Given the description of an element on the screen output the (x, y) to click on. 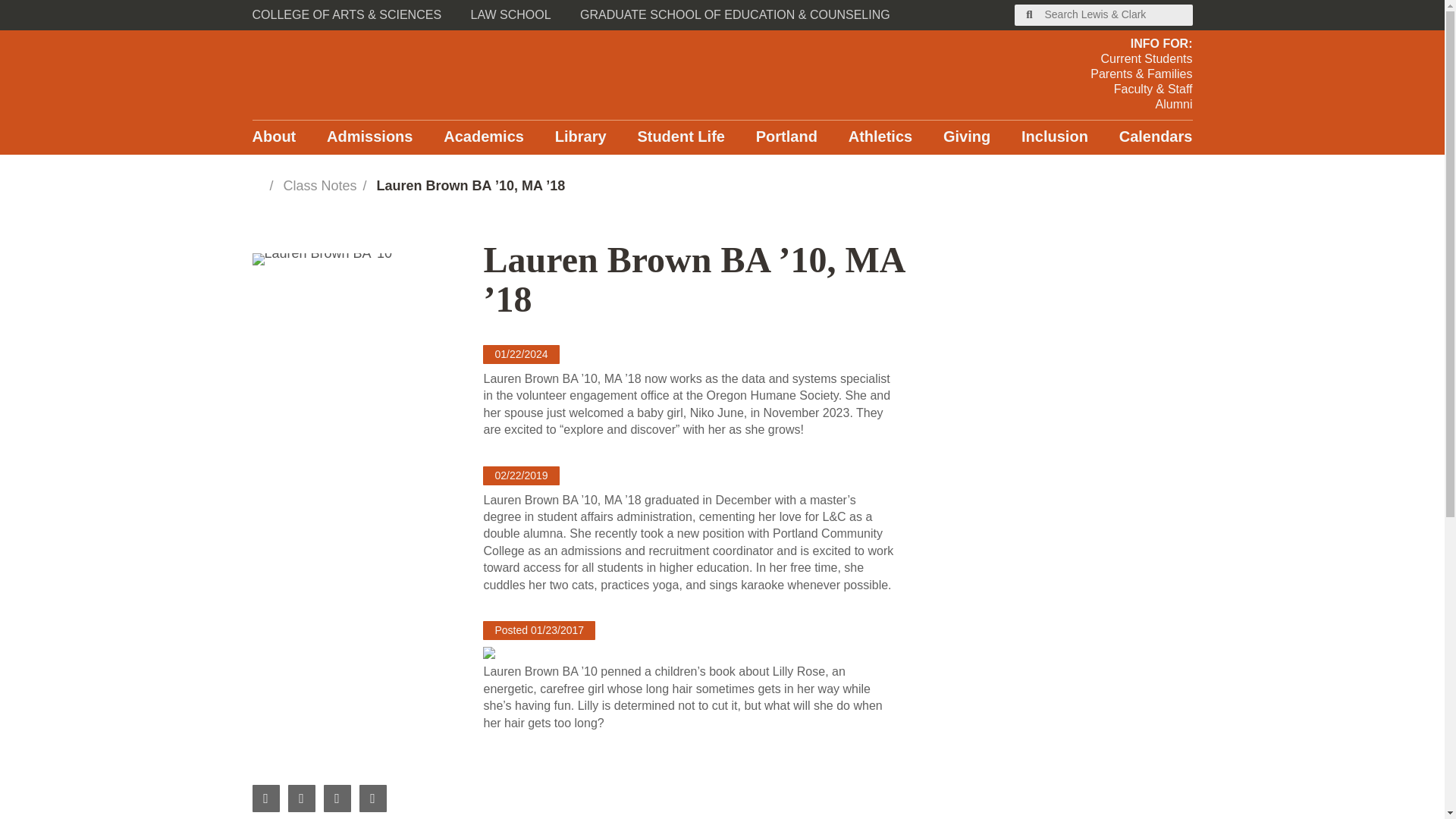
Inclusion (1054, 137)
Admissions (369, 137)
Share via email (373, 798)
Academics (484, 137)
Library (580, 137)
Alumni (1141, 104)
LAW SCHOOL (510, 15)
About (273, 137)
Share on Twitter (336, 798)
Current Students (1141, 58)
